Given the description of an element on the screen output the (x, y) to click on. 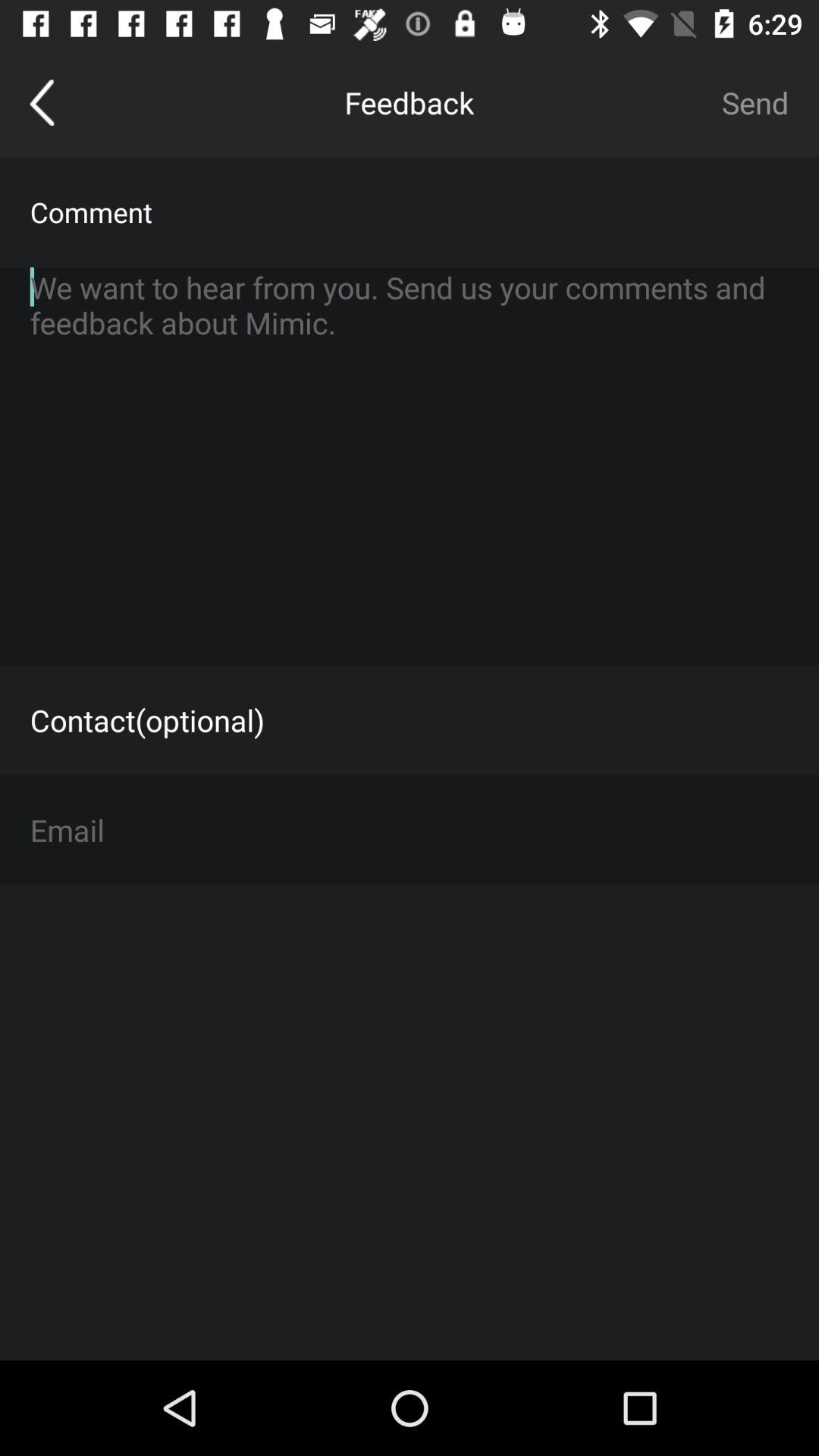
go back (42, 102)
